Given the description of an element on the screen output the (x, y) to click on. 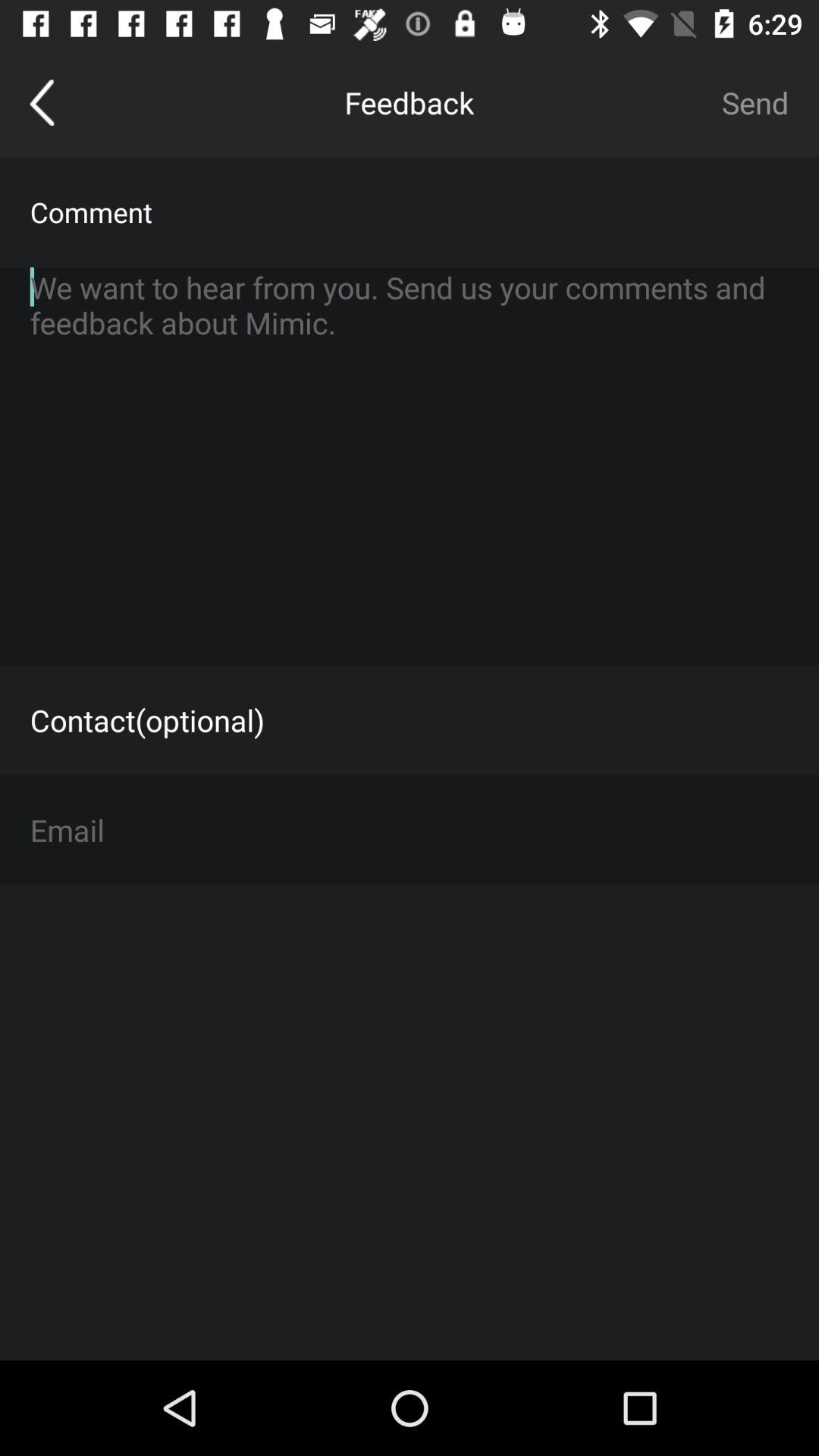
go back (42, 102)
